Given the description of an element on the screen output the (x, y) to click on. 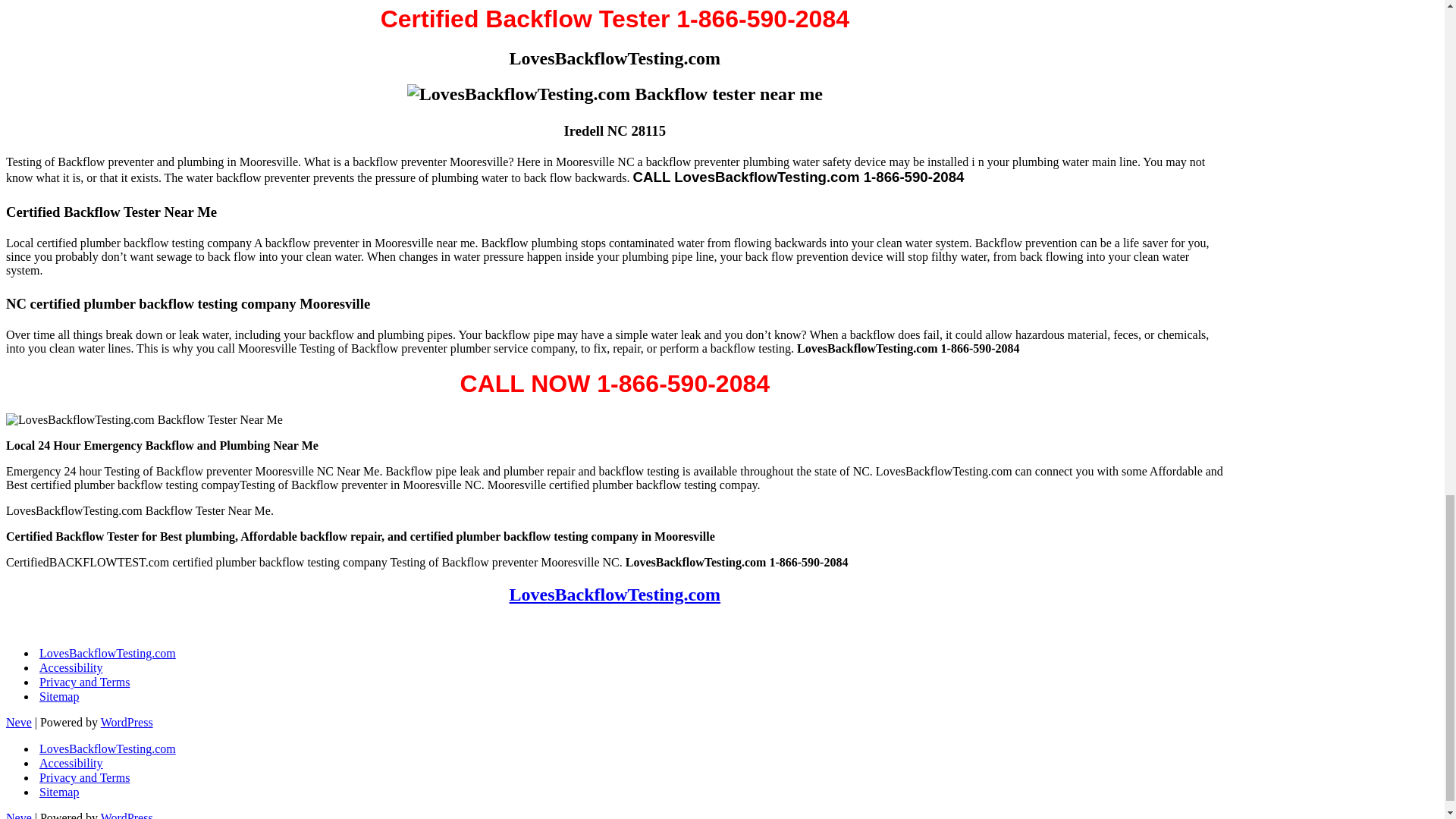
LovesBackflowTesting.com (107, 748)
Neve (18, 721)
Accessibility (71, 667)
WordPress (126, 721)
Privacy and Terms (84, 681)
Accessibility (71, 762)
LovesBackflowTesting.com (614, 594)
Sitemap (58, 696)
Sitemap (58, 791)
Privacy and Terms (84, 777)
LovesBackflowTesting.com (107, 653)
